Given the description of an element on the screen output the (x, y) to click on. 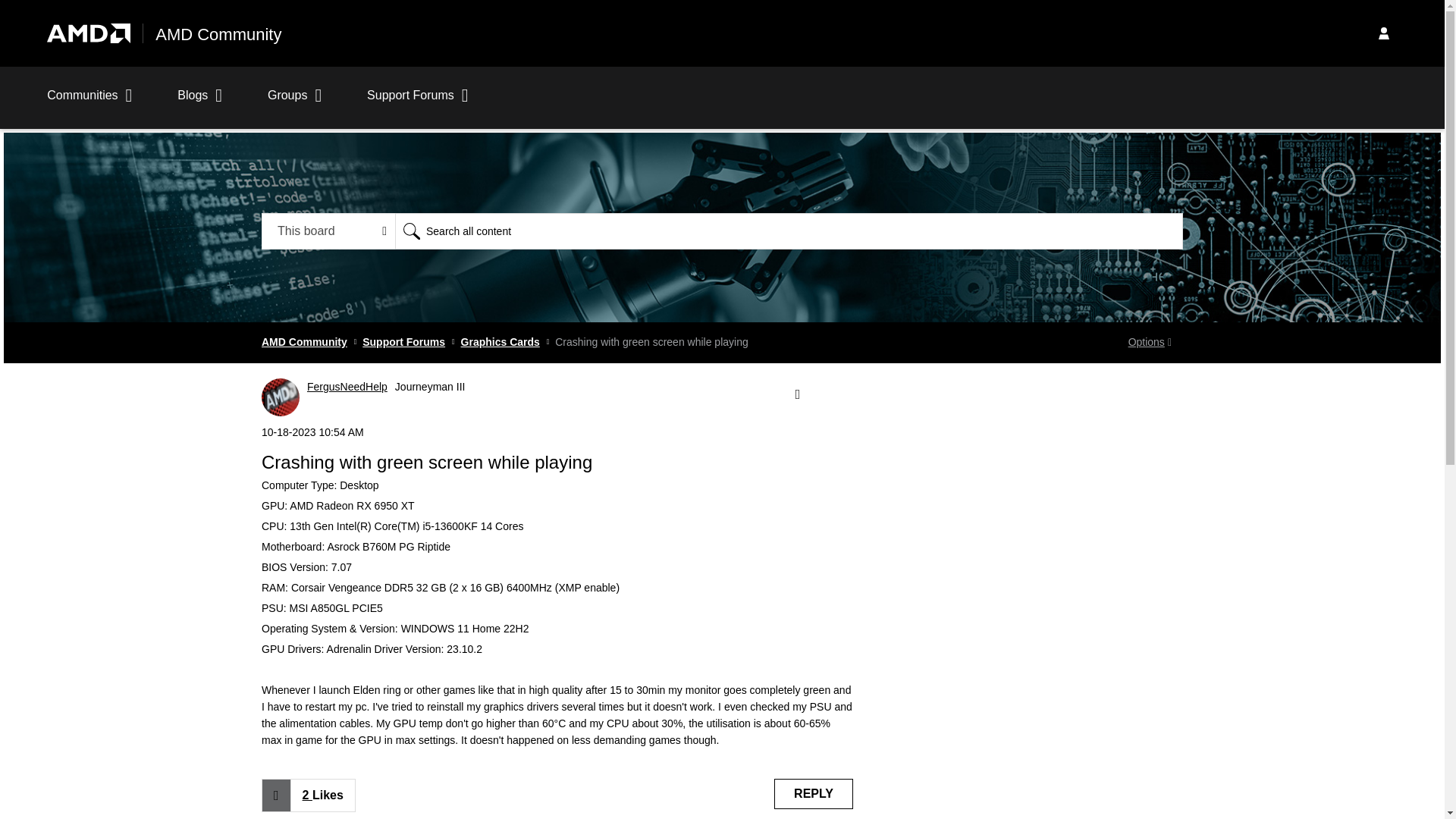
Search Granularity (329, 230)
Groups (294, 103)
FergusNeedHelp (280, 397)
Sign In (1383, 32)
Click here to see who gave likes to this post. (322, 795)
AMD Logo (88, 32)
Posted on (557, 432)
Search (411, 230)
Communities (89, 103)
Search (411, 230)
Show option menu (1149, 342)
Search (788, 230)
AMD Community (218, 34)
Search (411, 230)
Support Forums (416, 103)
